Given the description of an element on the screen output the (x, y) to click on. 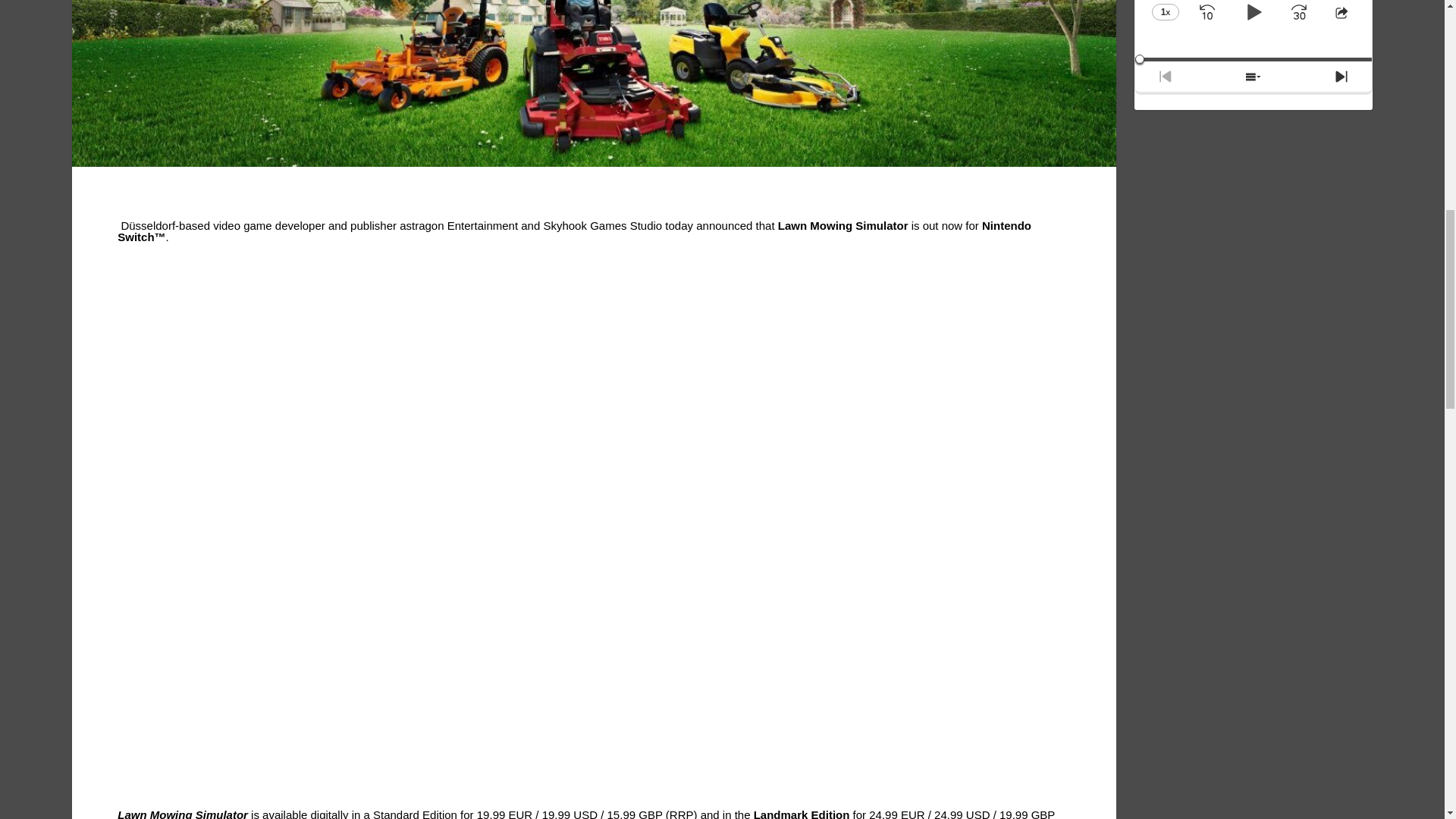
0 (1253, 59)
Landmark Edition (802, 813)
Standard Edition (414, 813)
